Given the description of an element on the screen output the (x, y) to click on. 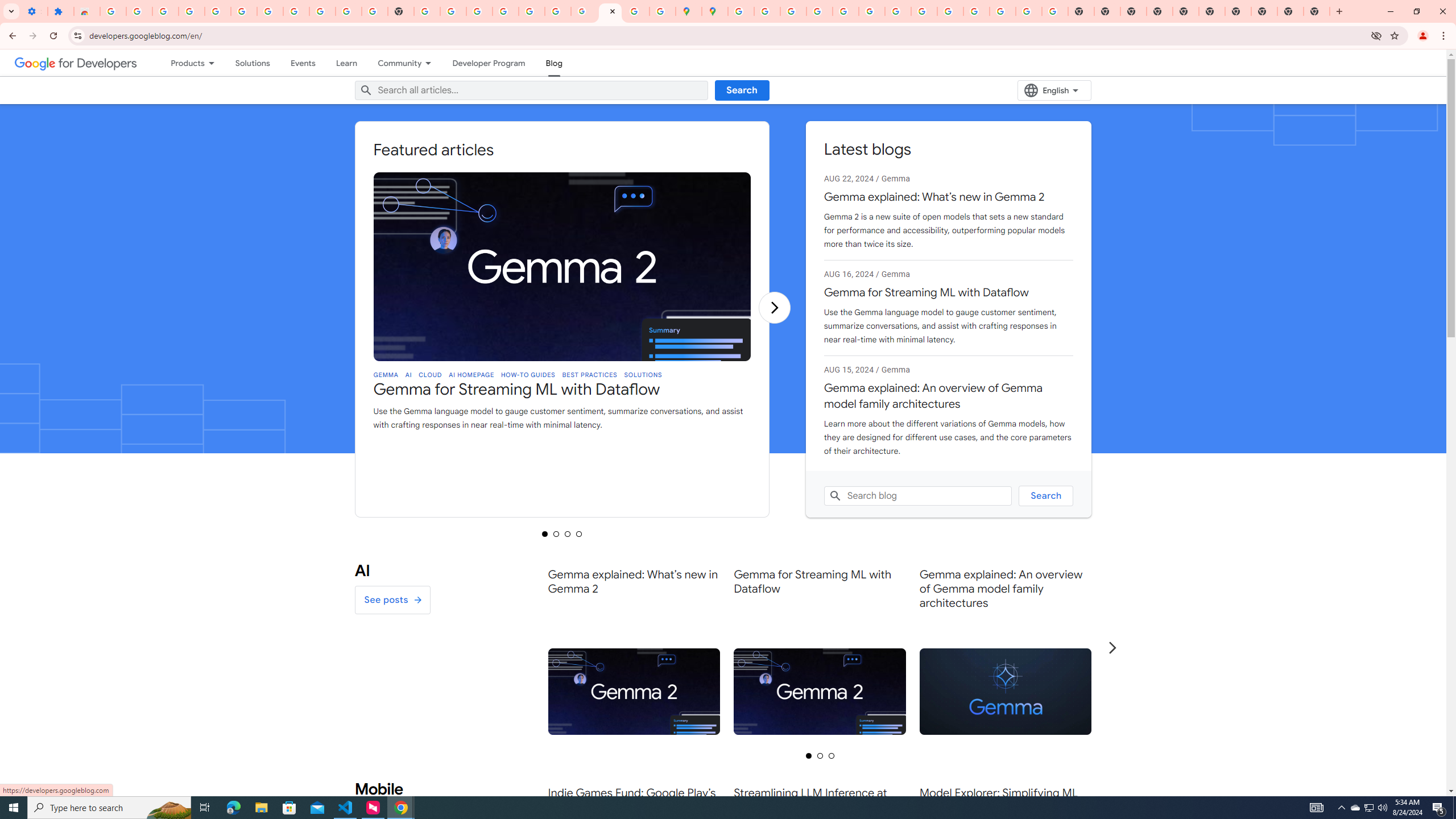
See posts (391, 599)
Selected tab 3 of 4 (567, 533)
Selected tab 2 of 3 (819, 755)
Gemma-social (1005, 691)
Privacy Help Center - Policies Help (818, 11)
Sign in - Google Accounts (112, 11)
New Tab (1159, 11)
